Given the description of an element on the screen output the (x, y) to click on. 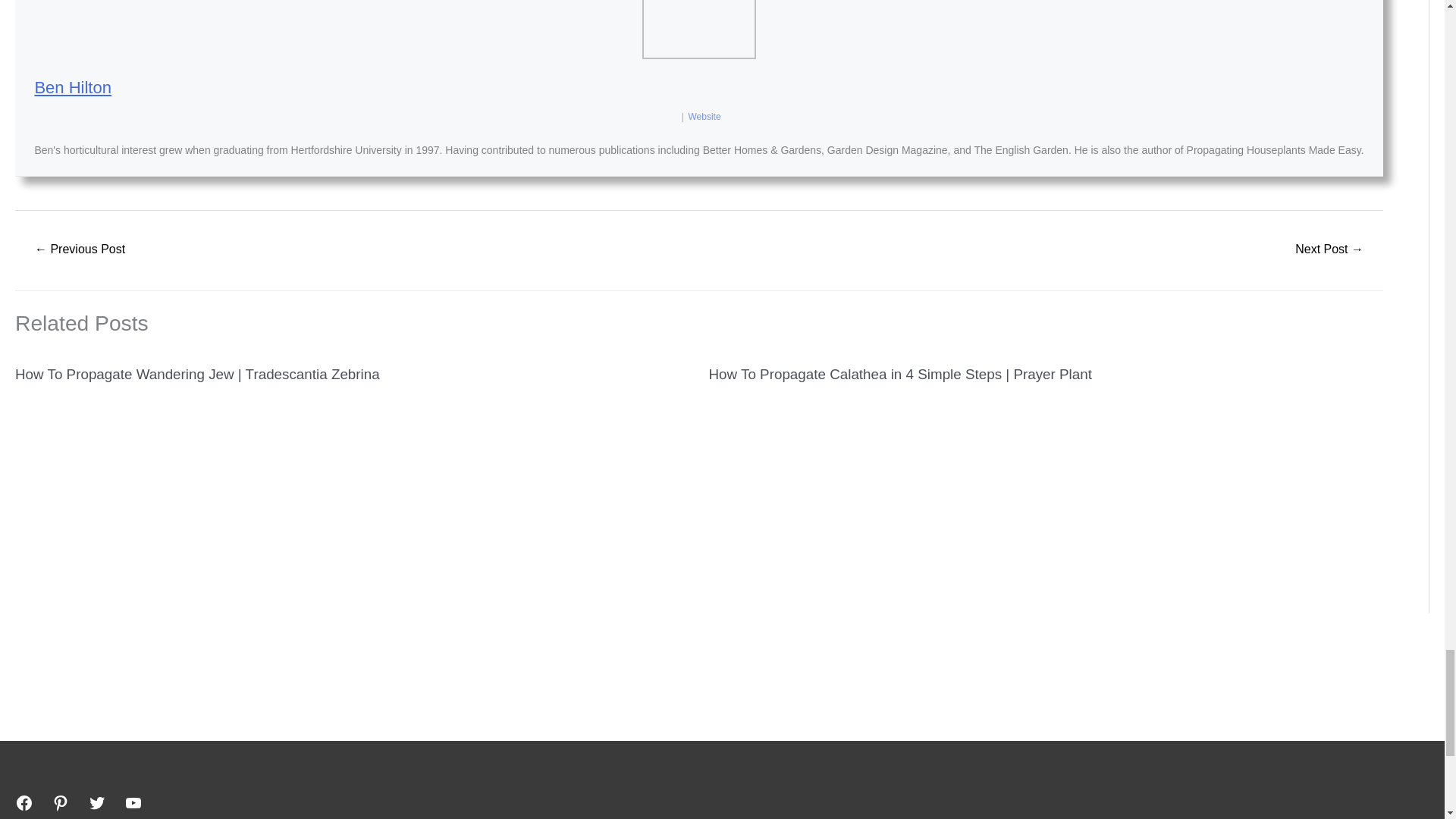
Website (703, 116)
Twitter (96, 802)
YouTube (132, 802)
Ben Hilton (72, 87)
Facebook (23, 802)
Pinterest (59, 802)
